Given the description of an element on the screen output the (x, y) to click on. 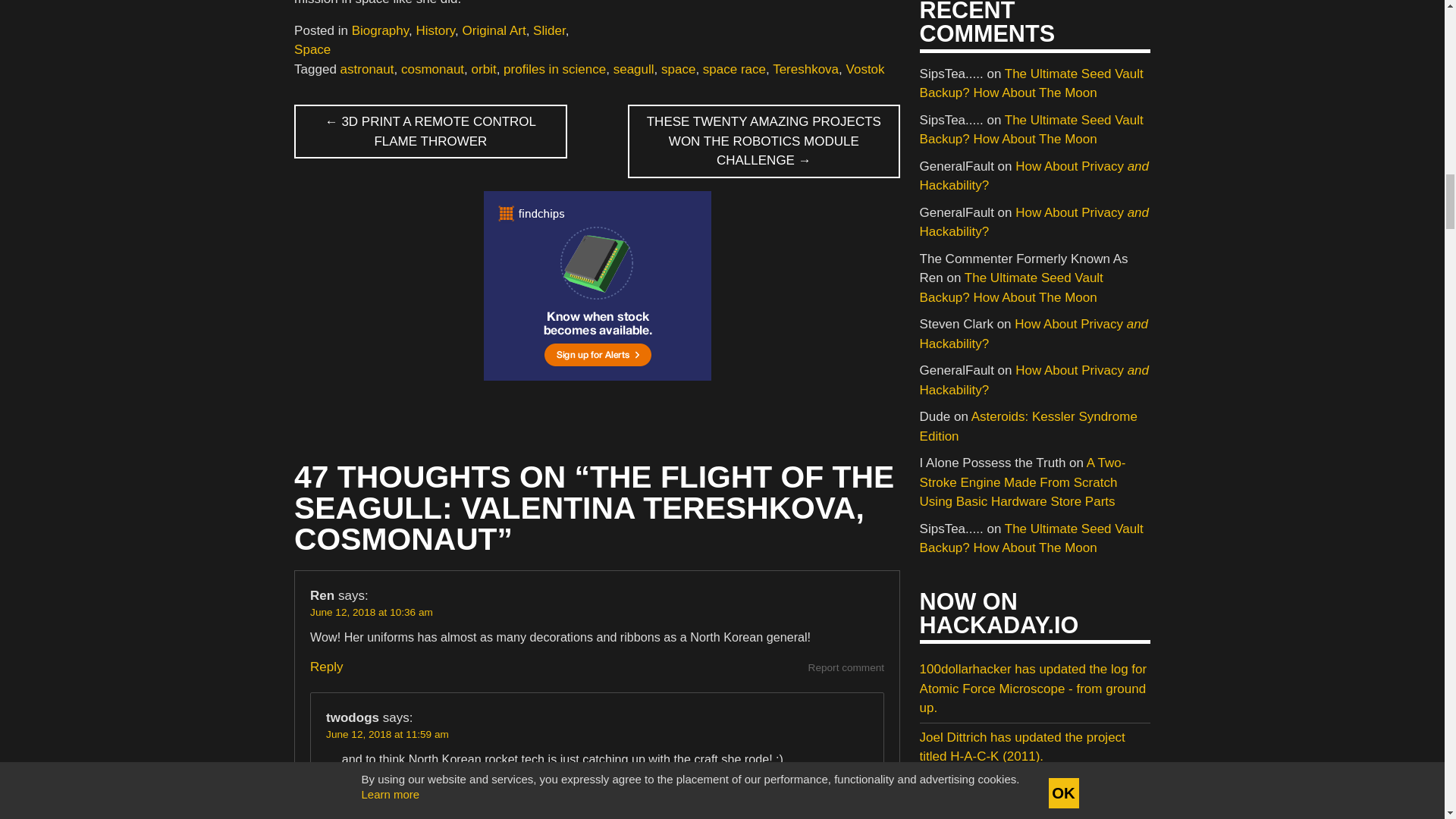
cosmonaut (432, 69)
Slider (549, 30)
Biography (380, 30)
History (434, 30)
astronaut (367, 69)
Space (312, 49)
Original Art (494, 30)
